Given the description of an element on the screen output the (x, y) to click on. 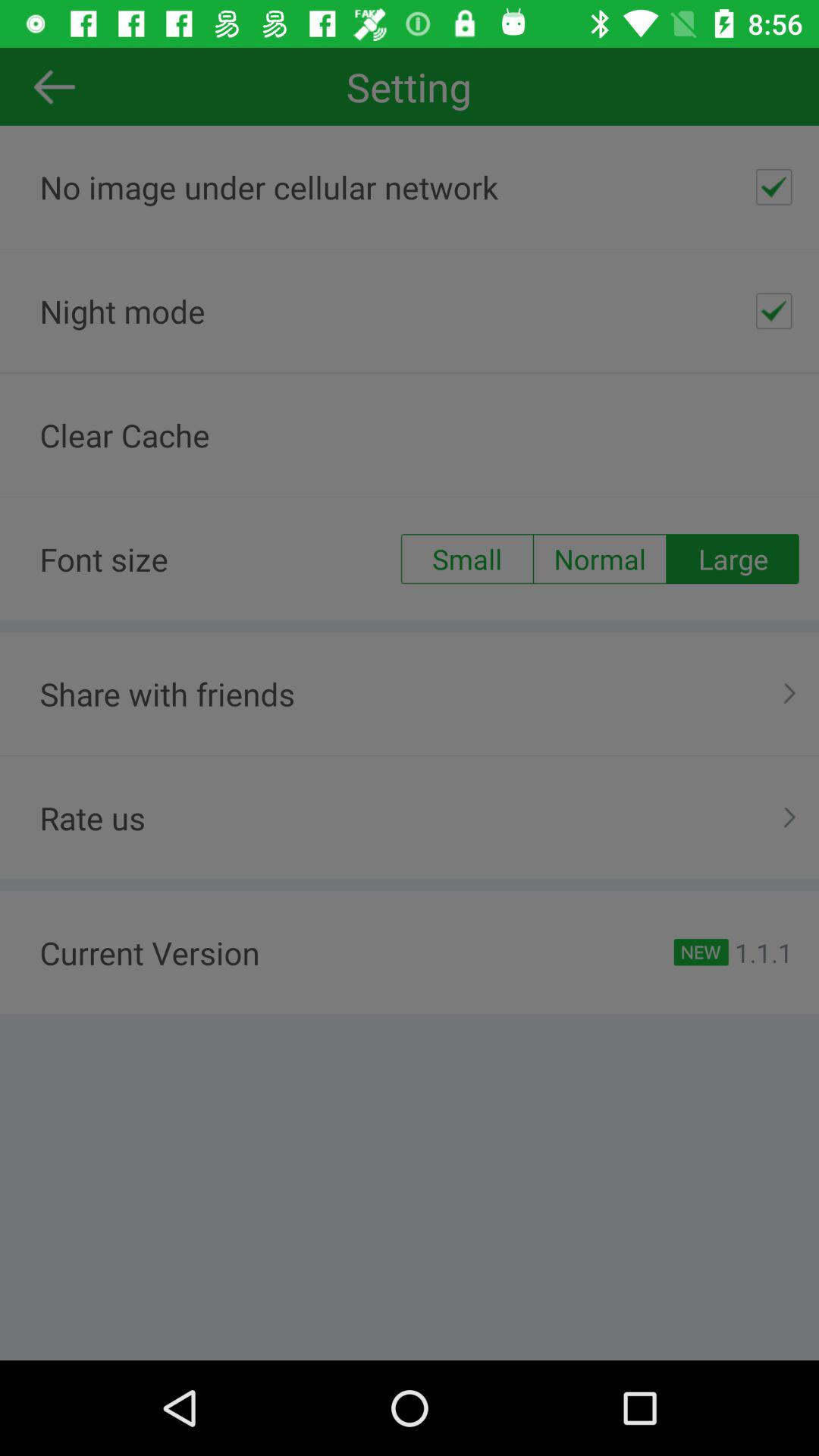
select item below no image under (774, 311)
